Given the description of an element on the screen output the (x, y) to click on. 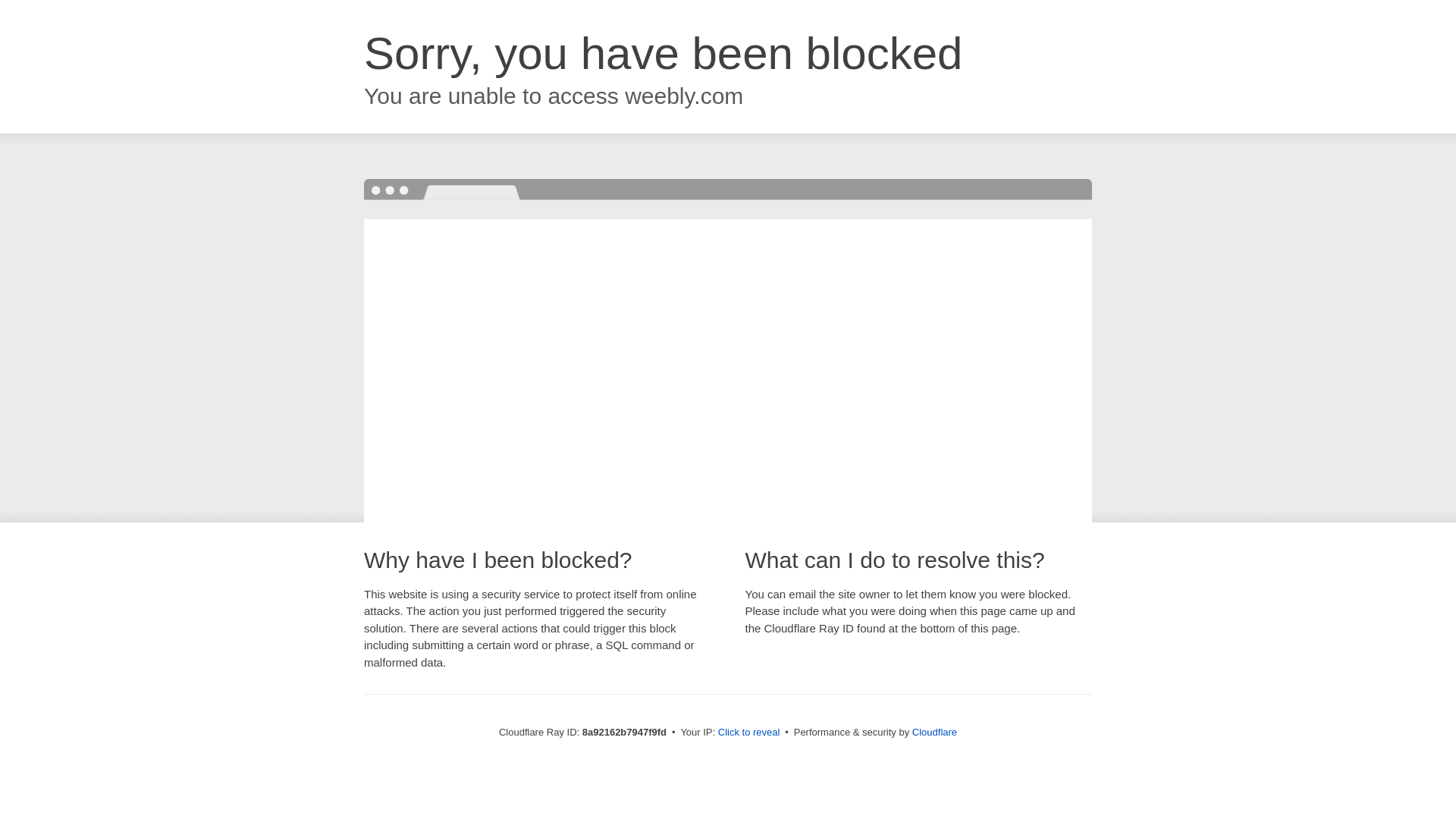
Click to reveal (748, 732)
Cloudflare (934, 731)
